Given the description of an element on the screen output the (x, y) to click on. 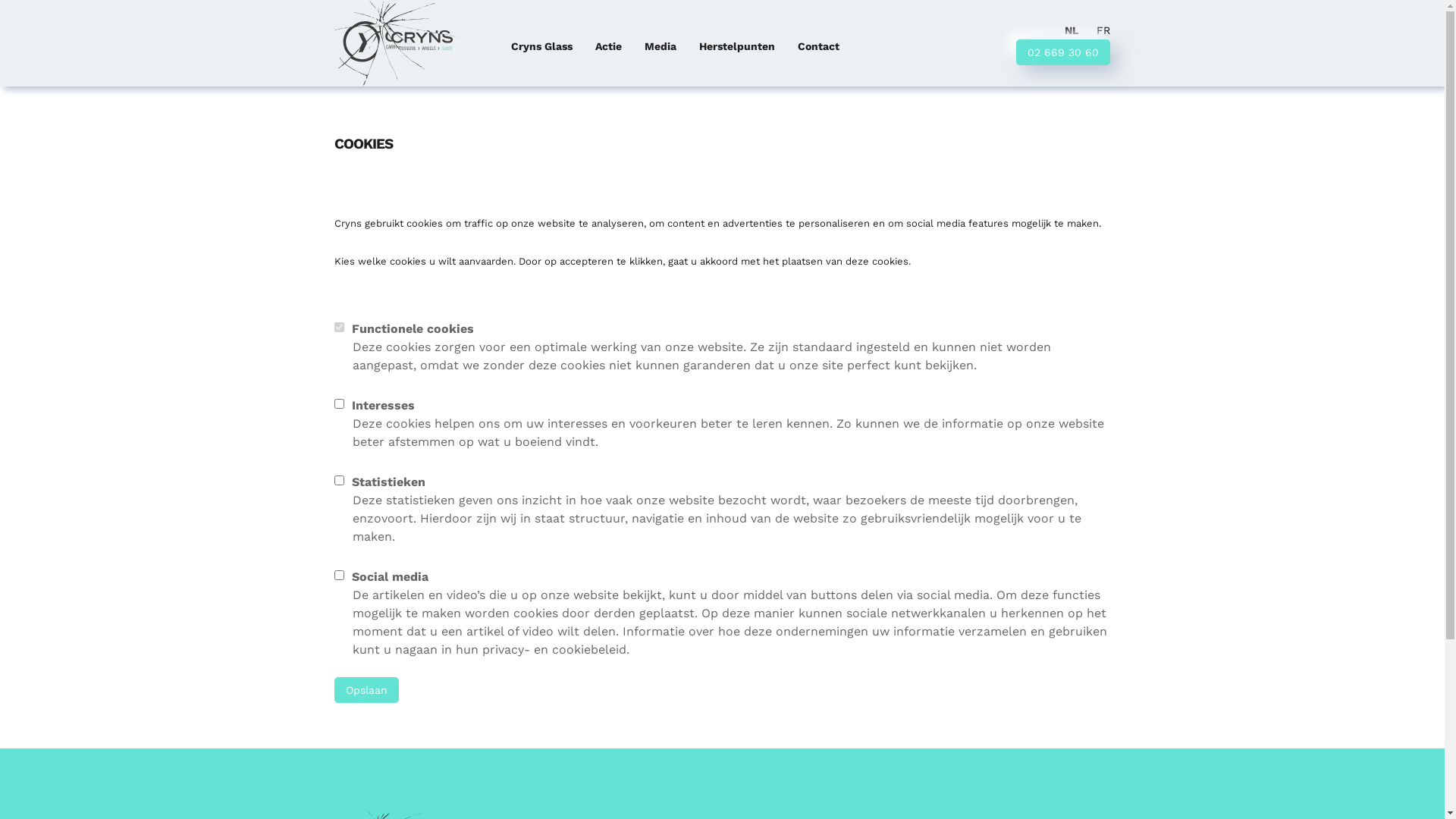
Media Element type: text (660, 46)
Herstelpunten Element type: text (736, 46)
02 669 30 60 Element type: text (1063, 52)
Opslaan Element type: text (365, 689)
Actie Element type: text (608, 46)
NL Element type: text (1071, 30)
FR Element type: text (1103, 30)
Contact Element type: text (818, 46)
Cryns Glass Element type: text (541, 46)
